Given the description of an element on the screen output the (x, y) to click on. 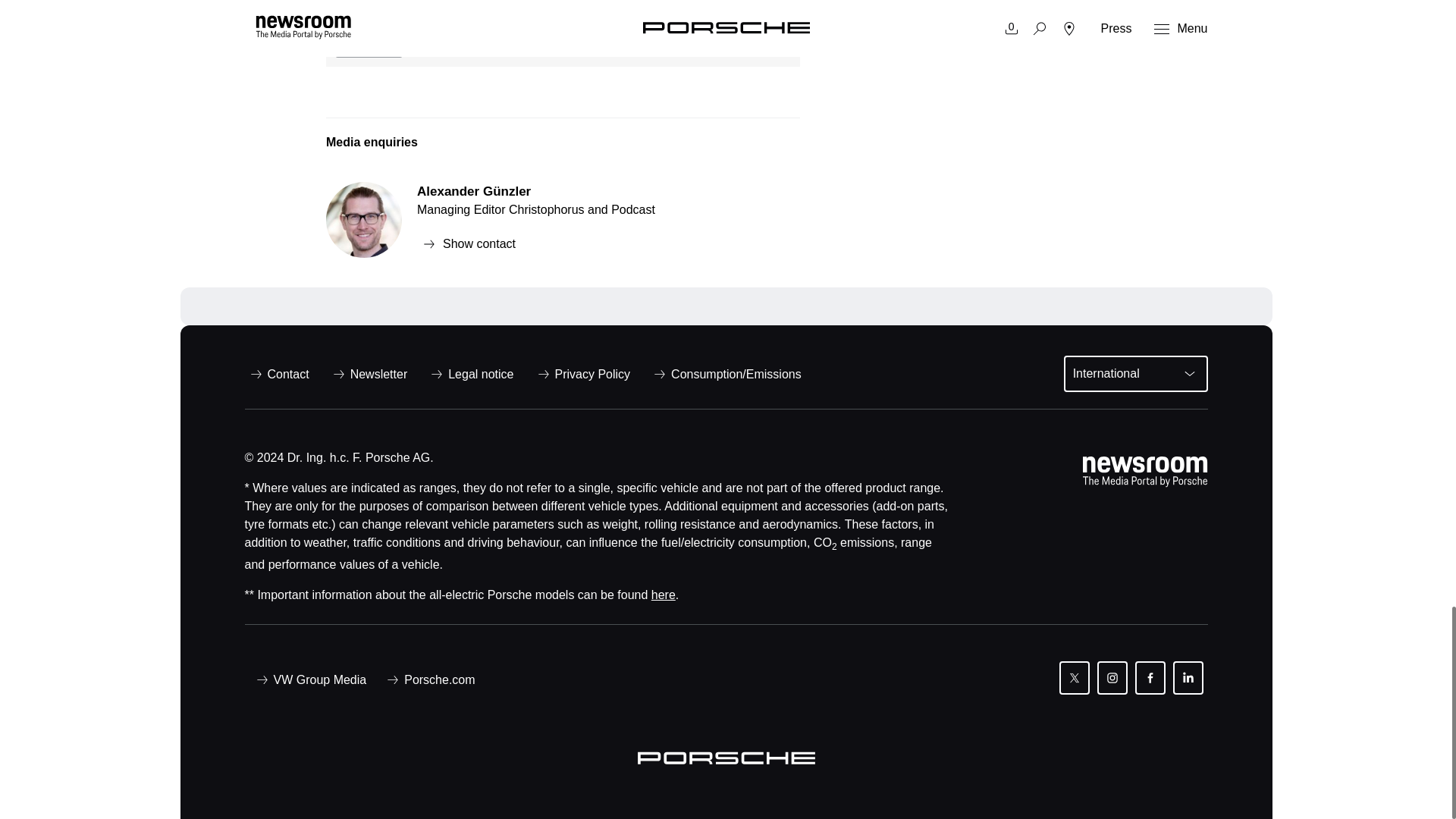
Media enquiries (562, 148)
